Given the description of an element on the screen output the (x, y) to click on. 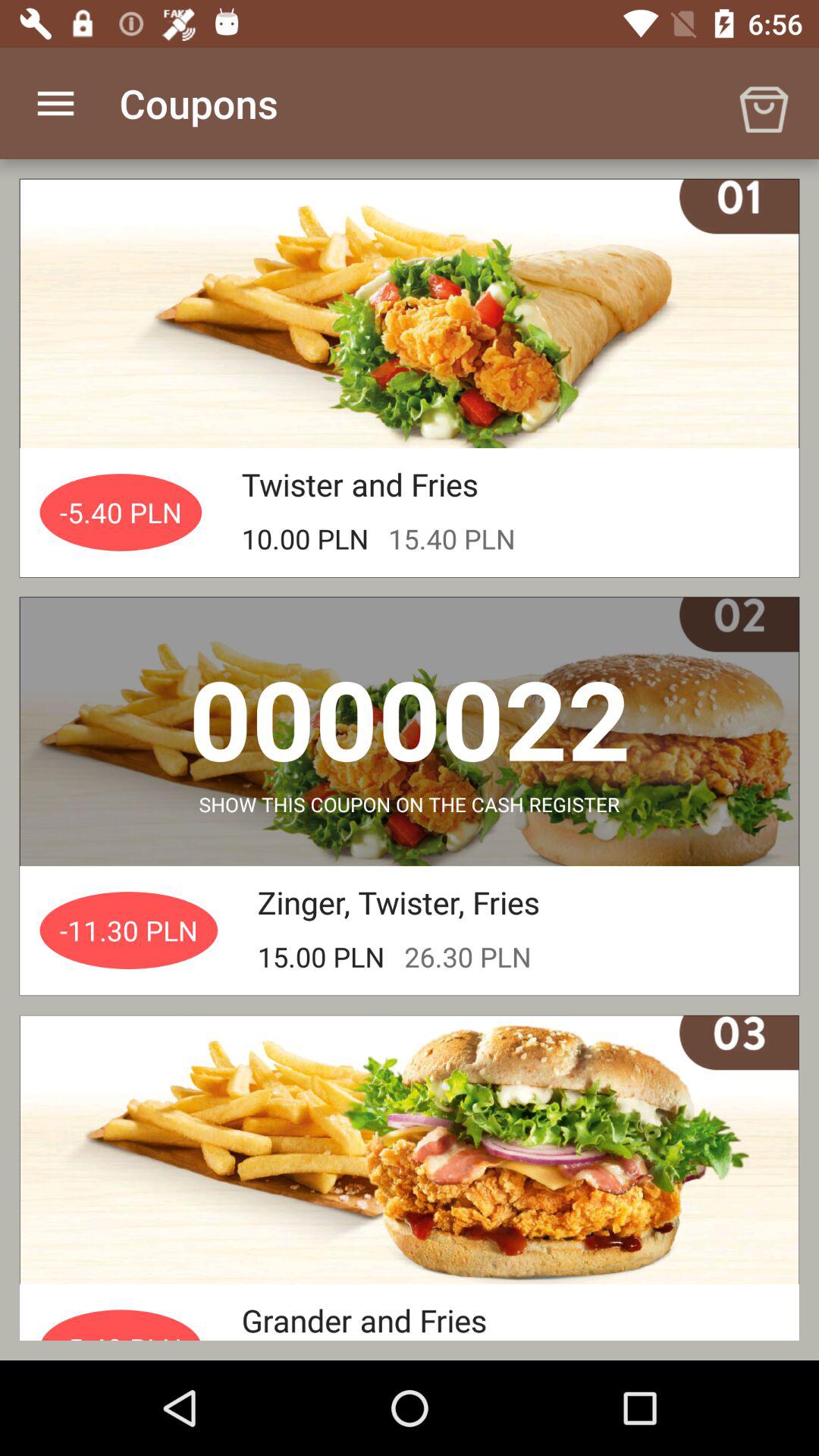
select the item to the right of the coupons app (763, 103)
